Given the description of an element on the screen output the (x, y) to click on. 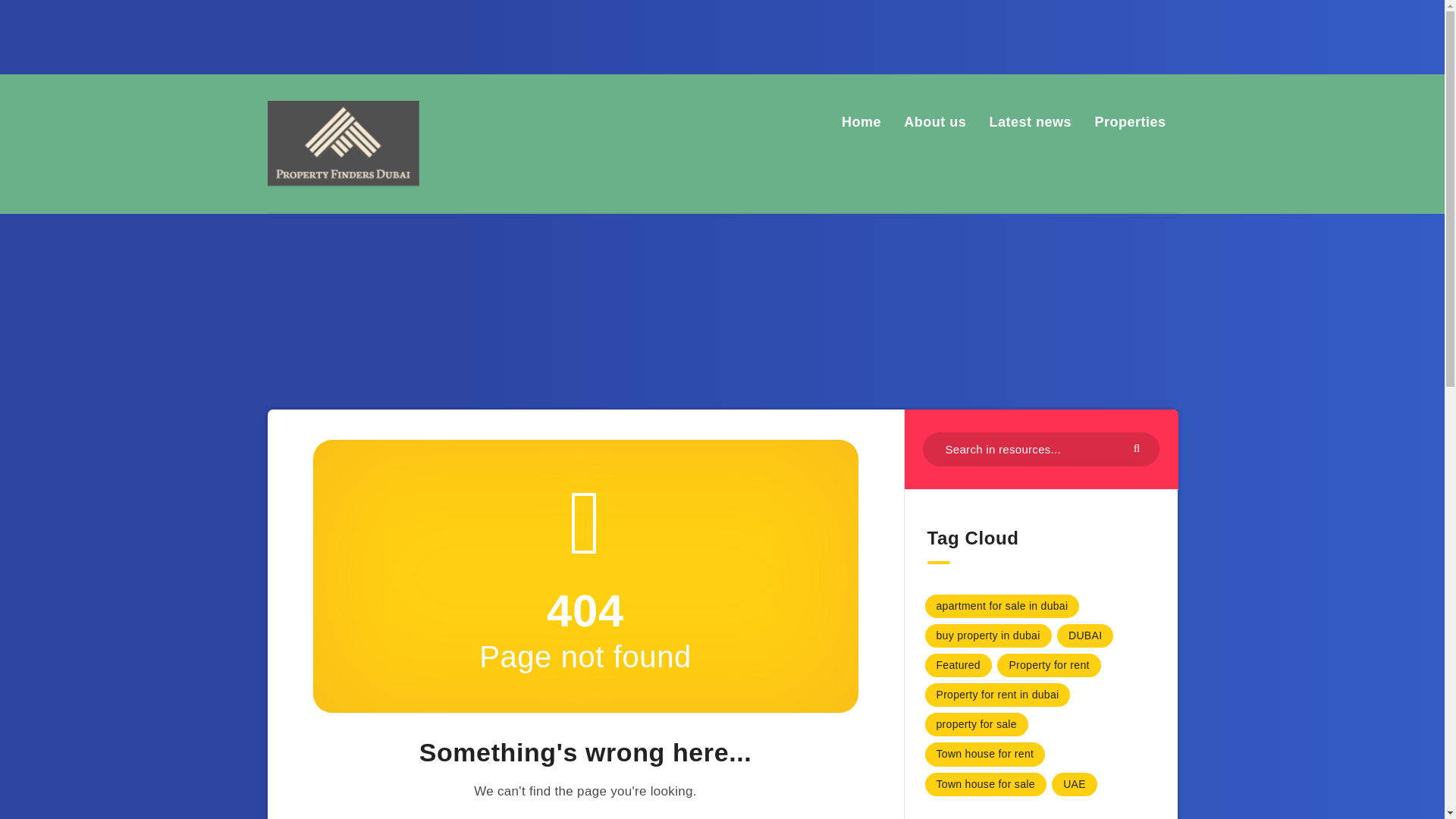
property for sale (975, 724)
Latest news (1030, 121)
Properties (1130, 121)
UAE (1074, 784)
Featured (957, 665)
Town house for sale (985, 784)
DUBAI (1085, 635)
buy property in dubai (987, 635)
Property for rent (1048, 665)
Property for rent in dubai (997, 694)
